Given the description of an element on the screen output the (x, y) to click on. 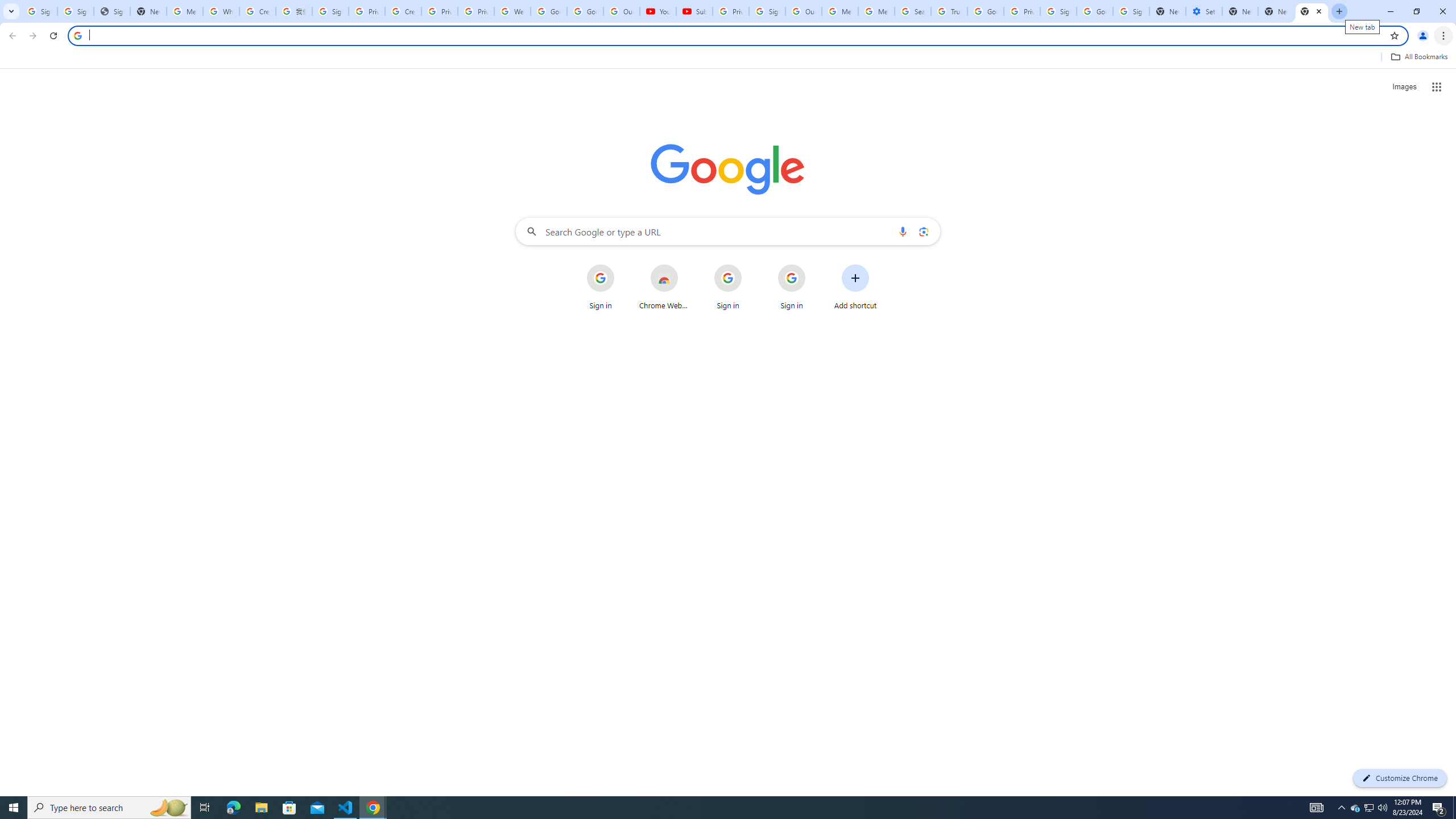
Sign in - Google Accounts (330, 11)
Create your Google Account (257, 11)
Google Cybersecurity Innovations - Google Safety Center (1094, 11)
More actions for Chrome Web Store shortcut (686, 265)
YouTube (657, 11)
